Given the description of an element on the screen output the (x, y) to click on. 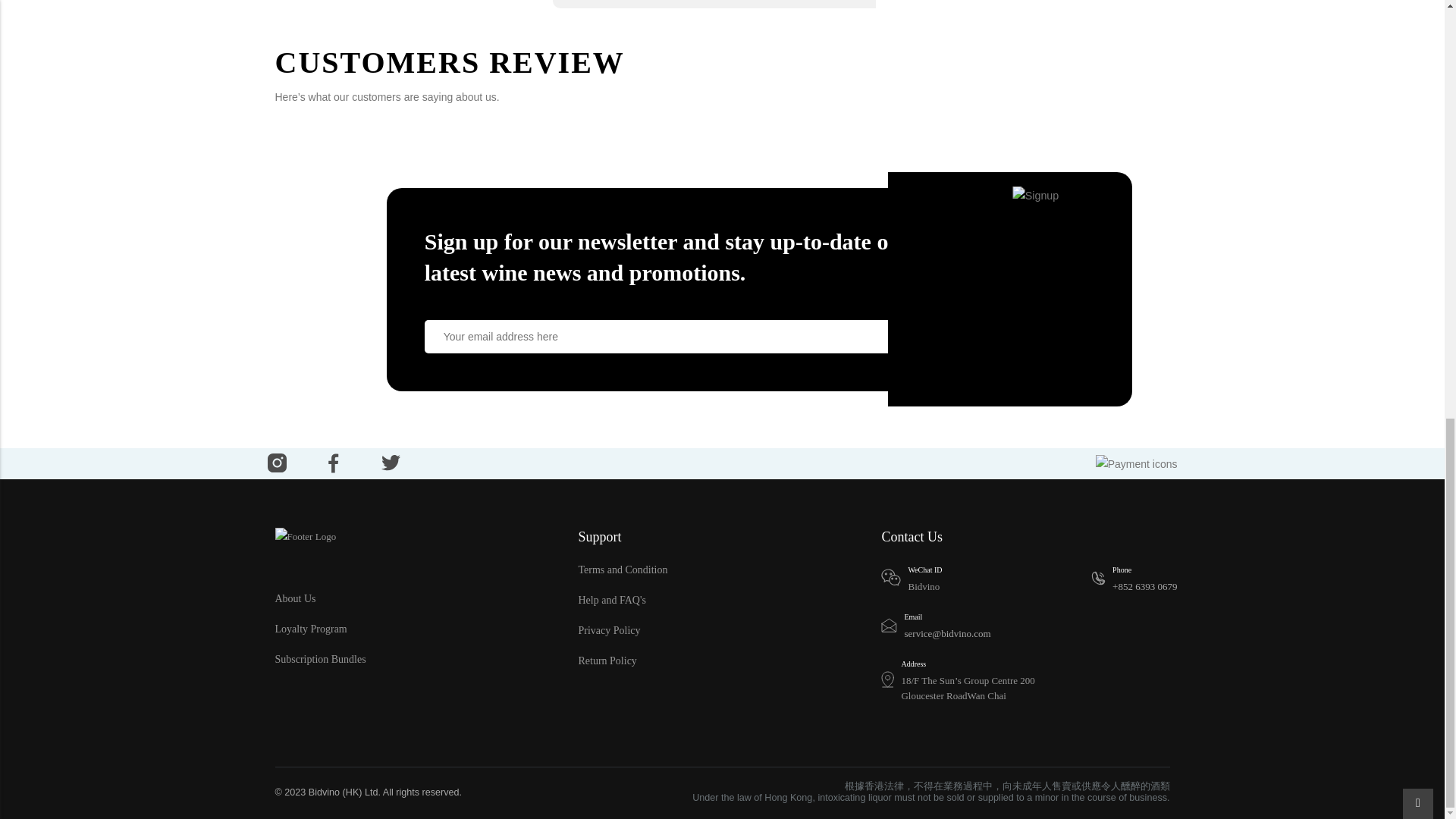
Instagram (275, 462)
Twitter (390, 461)
